Given the description of an element on the screen output the (x, y) to click on. 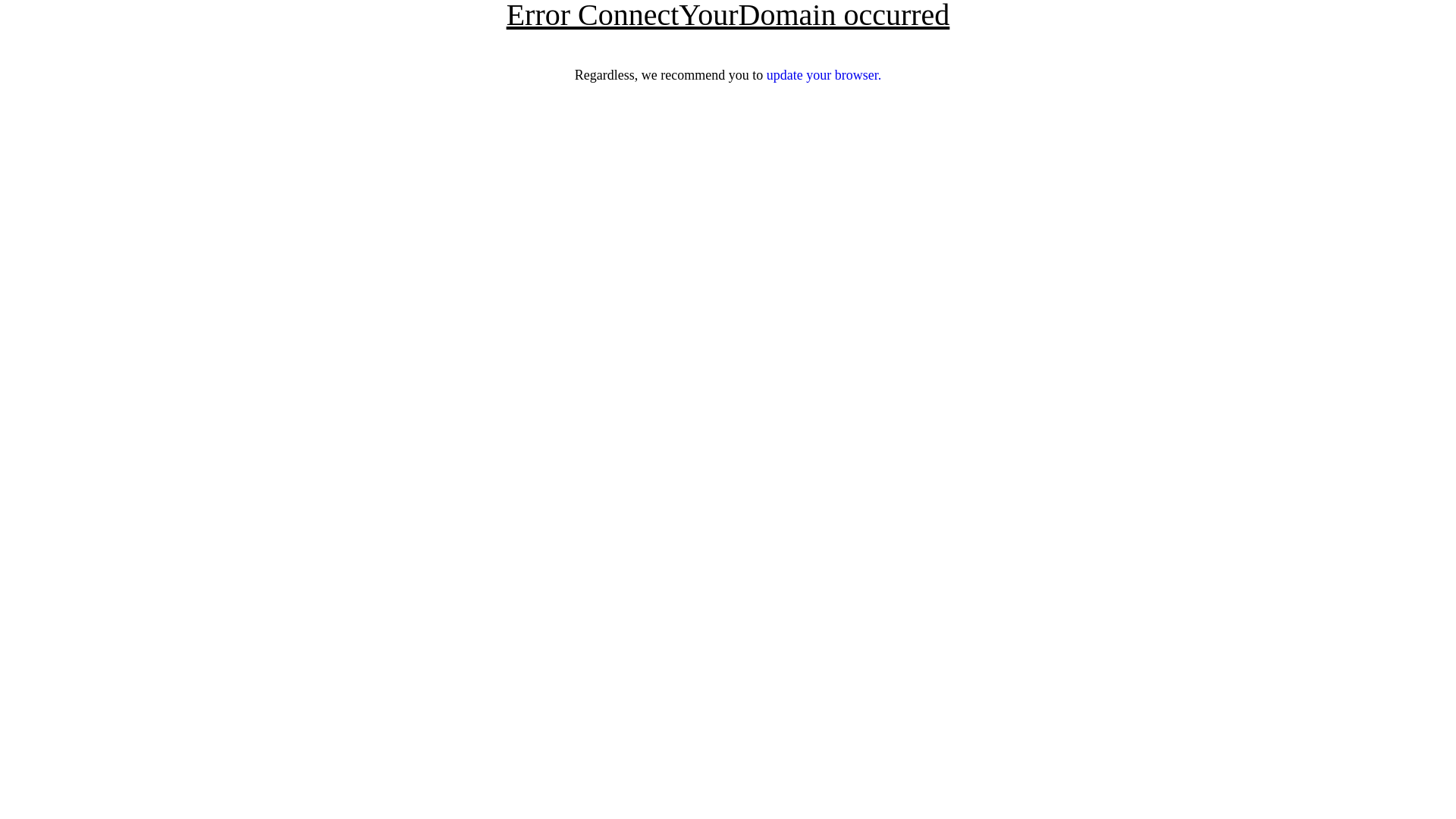
update your browser. Element type: text (823, 74)
